Given the description of an element on the screen output the (x, y) to click on. 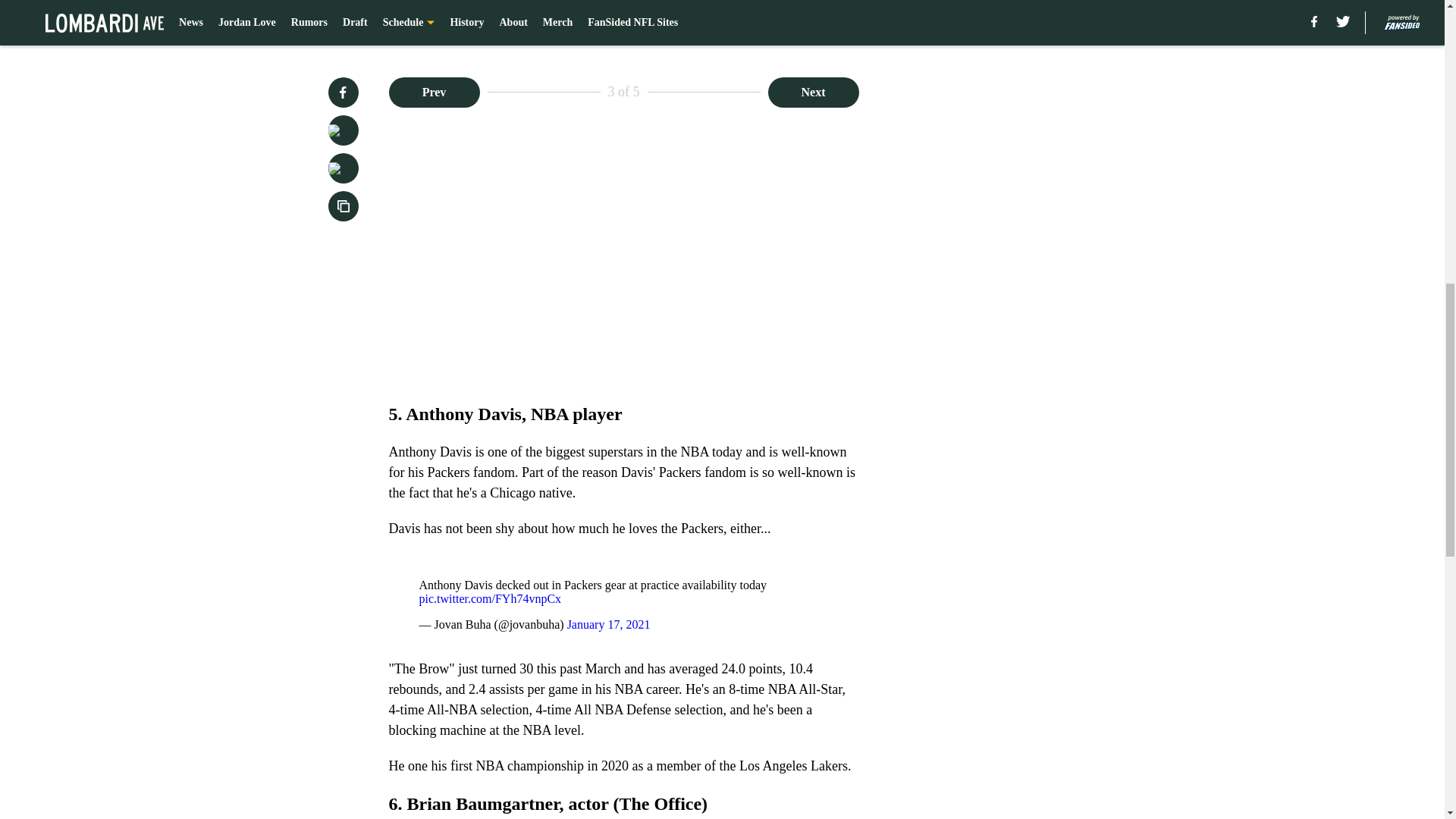
Prev (433, 91)
Next (813, 91)
January 17, 2021 (608, 624)
Green Bay Packers (721, 7)
